Given the description of an element on the screen output the (x, y) to click on. 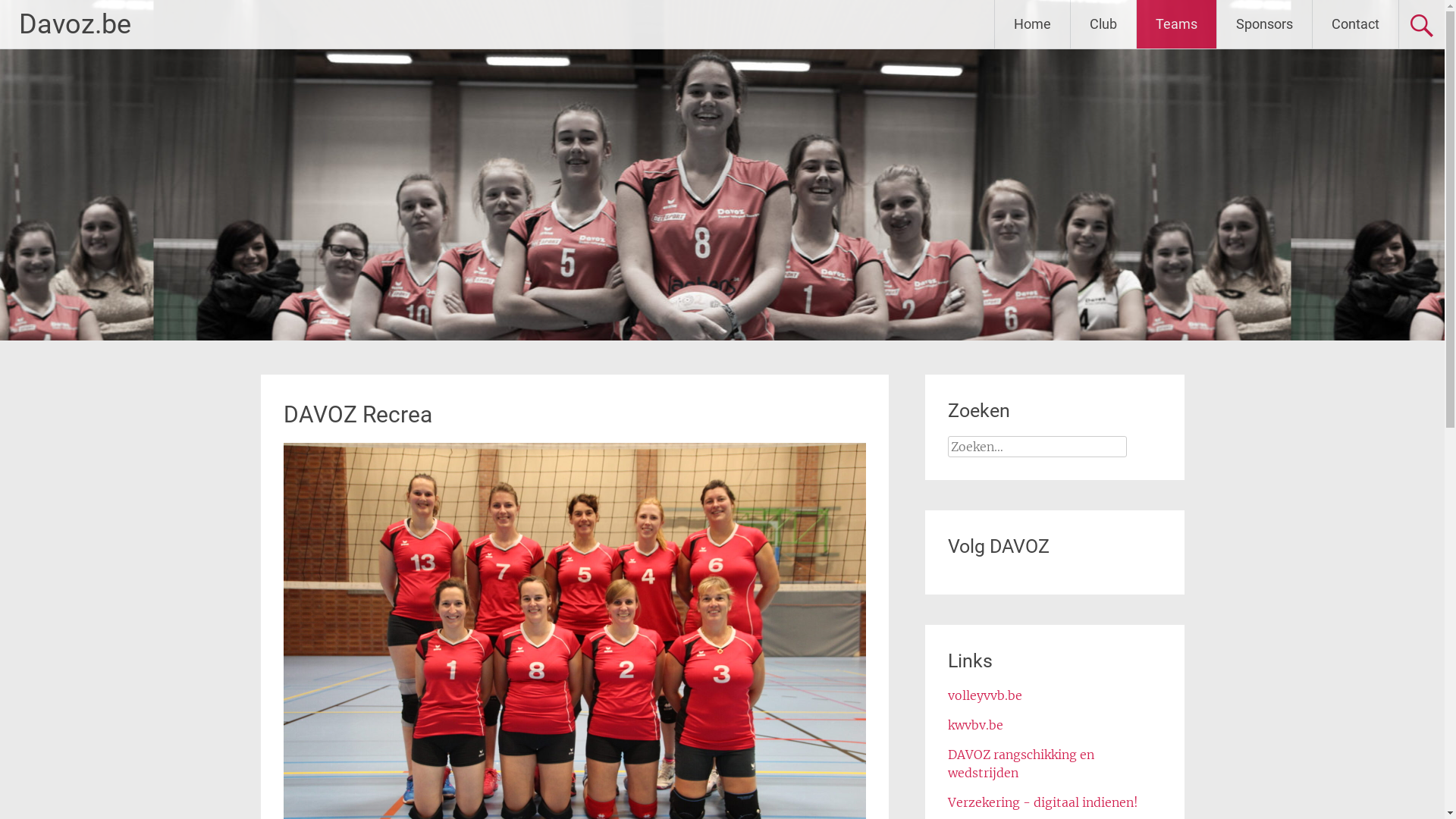
Davoz.be Element type: text (74, 24)
Contact Element type: text (1355, 24)
Club Element type: text (1102, 24)
DAVOZ rangschikking en wedstrijden Element type: text (1020, 763)
kwvbv.be Element type: text (975, 724)
Home Element type: text (1032, 24)
Teams Element type: text (1176, 24)
Zoeken Element type: text (31, 12)
Sponsors Element type: text (1264, 24)
volleyvvb.be Element type: text (984, 694)
Verzekering - digitaal indienen! Element type: text (1042, 801)
